Given the description of an element on the screen output the (x, y) to click on. 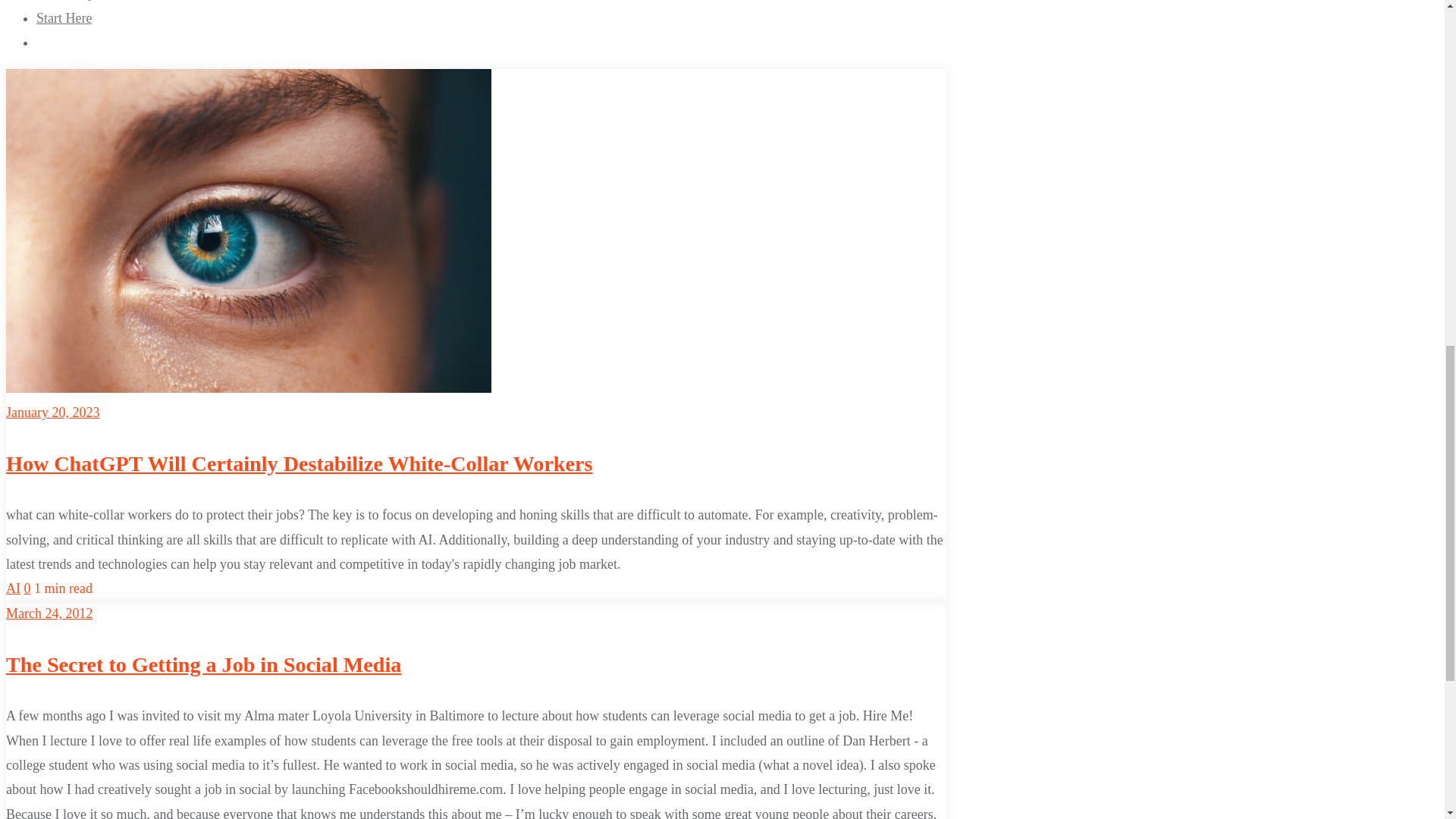
January 20, 2023 (52, 412)
AI (12, 588)
Start Here (63, 17)
March 24, 2012 (49, 613)
The Secret to Getting a Job in Social Media (203, 664)
How ChatGPT Will Certainly Destabilize White-Collar Workers (298, 463)
